Given the description of an element on the screen output the (x, y) to click on. 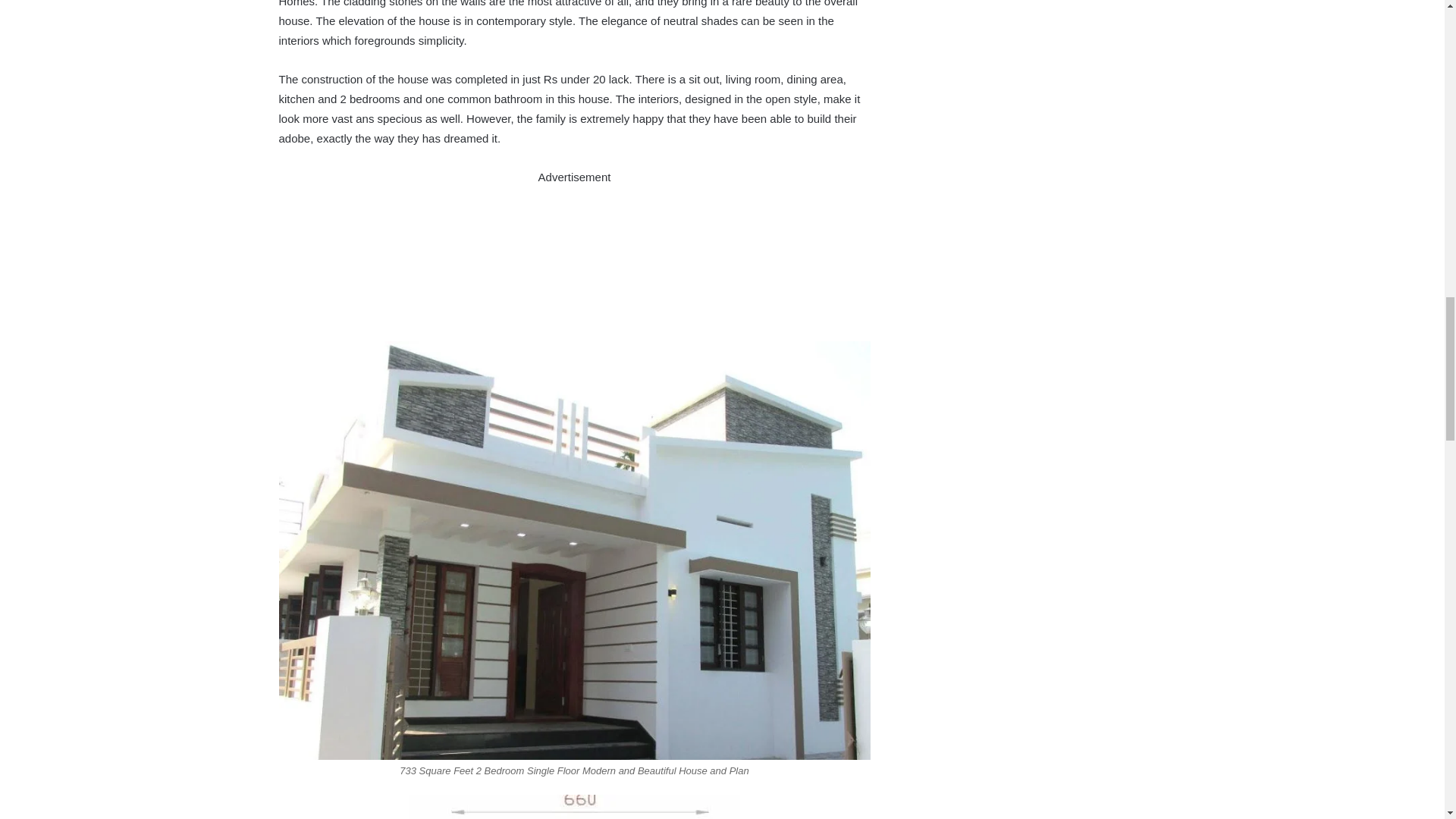
Advertisement (574, 260)
